Given the description of an element on the screen output the (x, y) to click on. 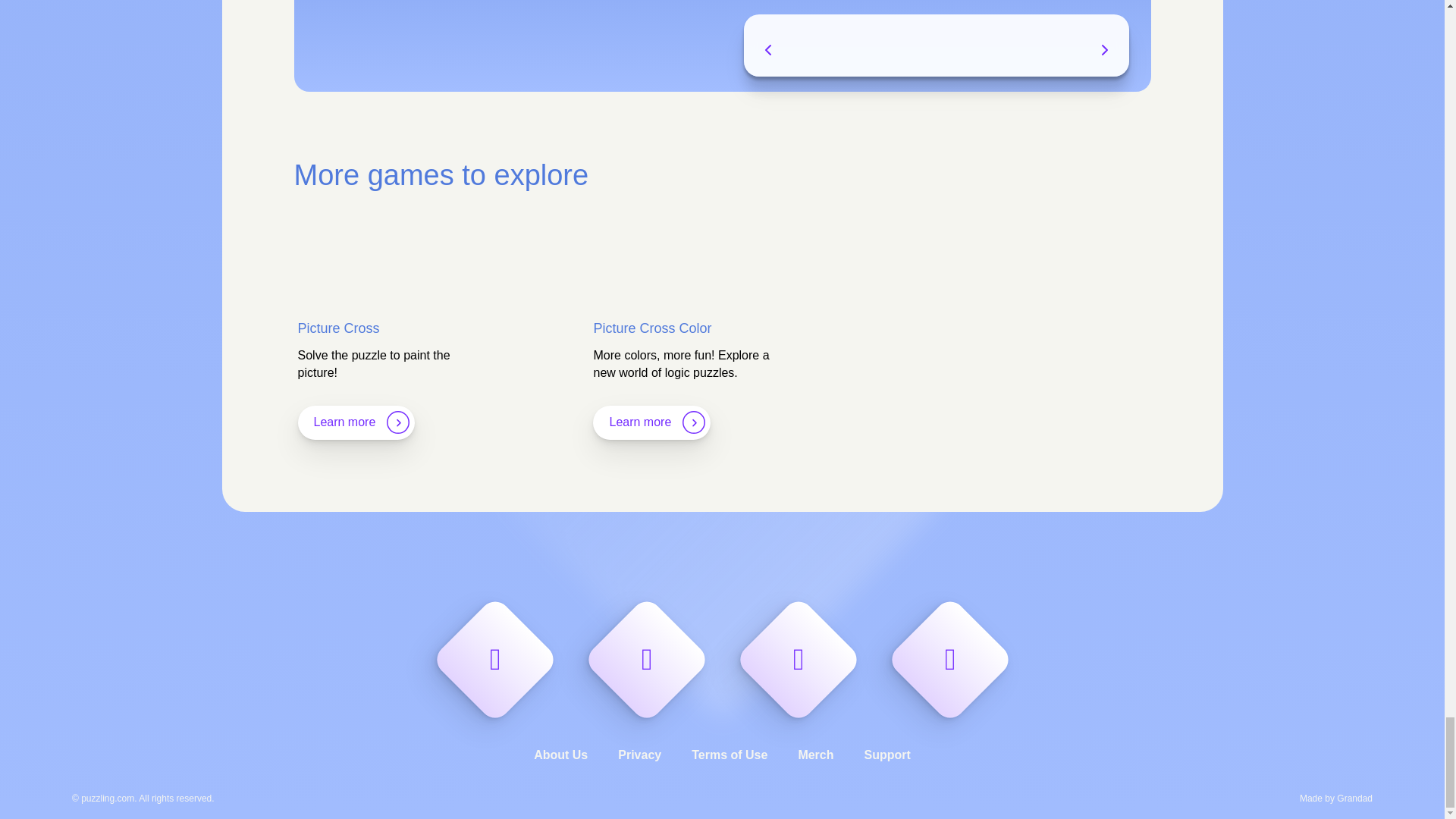
Privacy (639, 754)
LinkedIn (779, 640)
Merch (815, 754)
LinkedIn (779, 640)
Facebook (475, 640)
Twitter (627, 640)
Youtube (930, 640)
Terms of Use (729, 754)
Facebook (475, 640)
Twitter (627, 640)
Picture Cross Color (685, 328)
Support (887, 754)
About Us (560, 754)
Youtube (930, 640)
Picture Cross (390, 328)
